Given the description of an element on the screen output the (x, y) to click on. 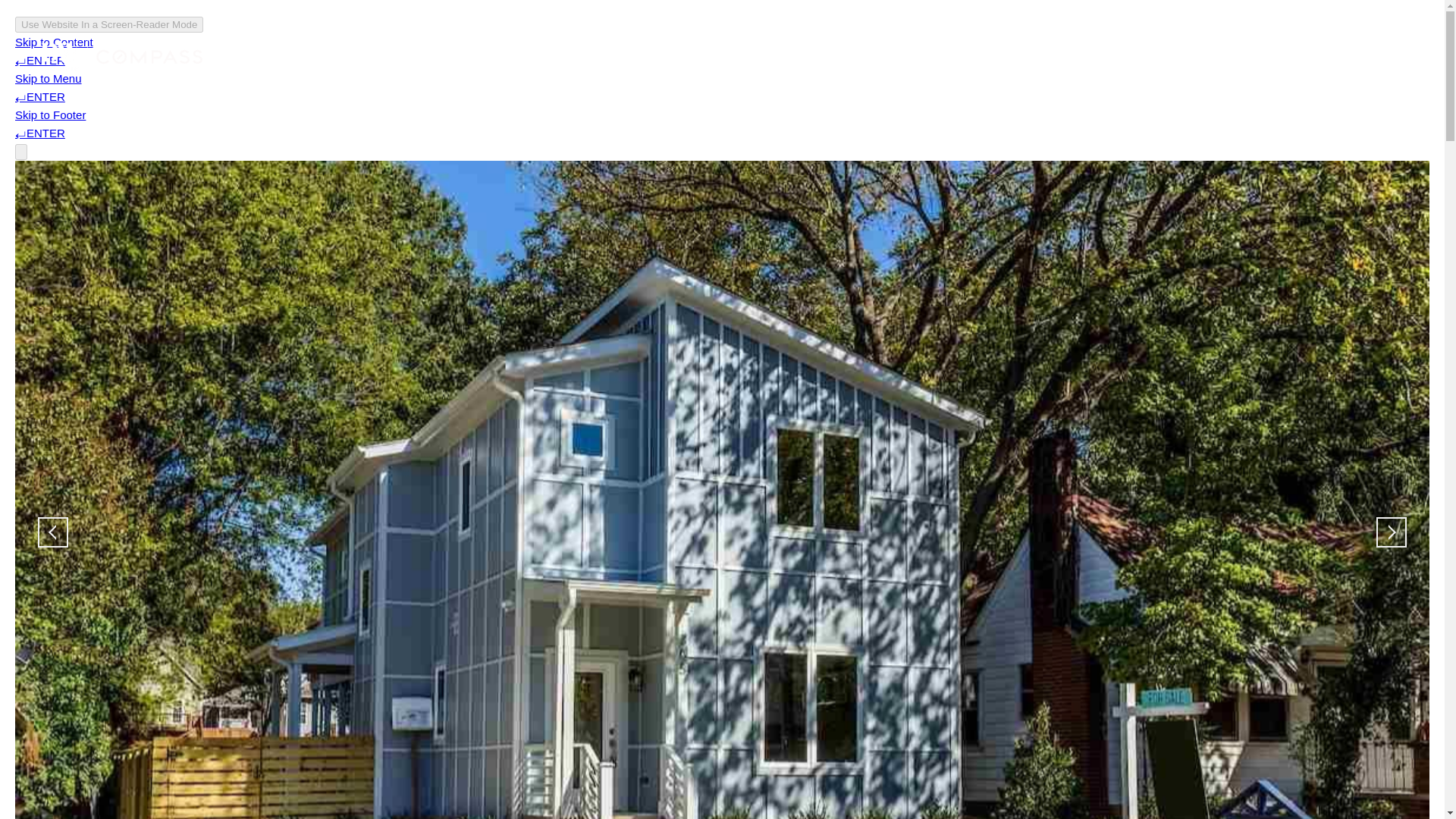
Next (1390, 531)
HOME SEARCH (1064, 56)
LET'S CONNECT (1174, 56)
Previous (52, 531)
PORTFOLIO (967, 56)
MENU (1369, 56)
